Given the description of an element on the screen output the (x, y) to click on. 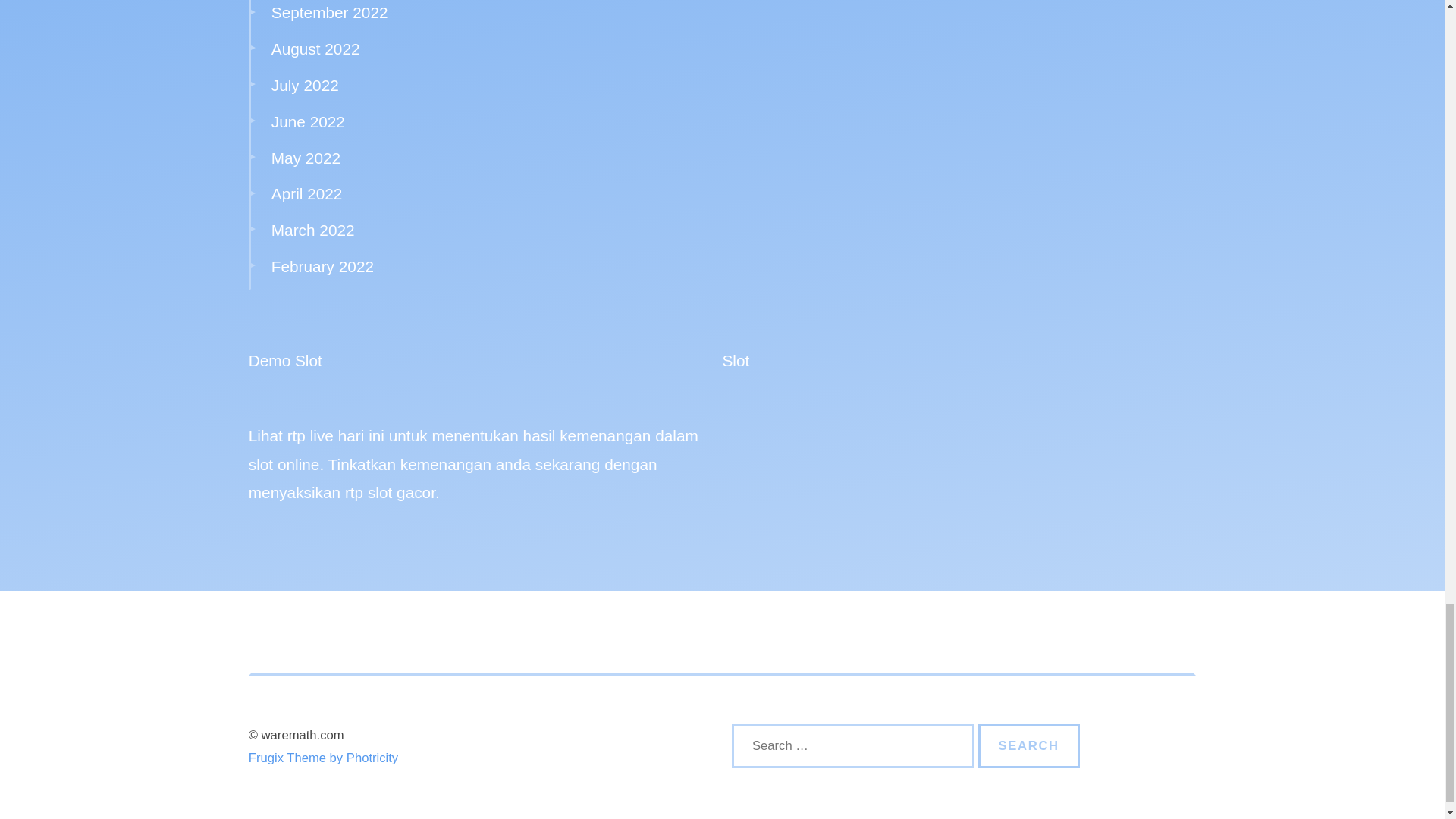
June 2022 (307, 121)
August 2022 (314, 48)
Search (1029, 745)
September 2022 (329, 12)
Search (1029, 745)
July 2022 (304, 85)
